Given the description of an element on the screen output the (x, y) to click on. 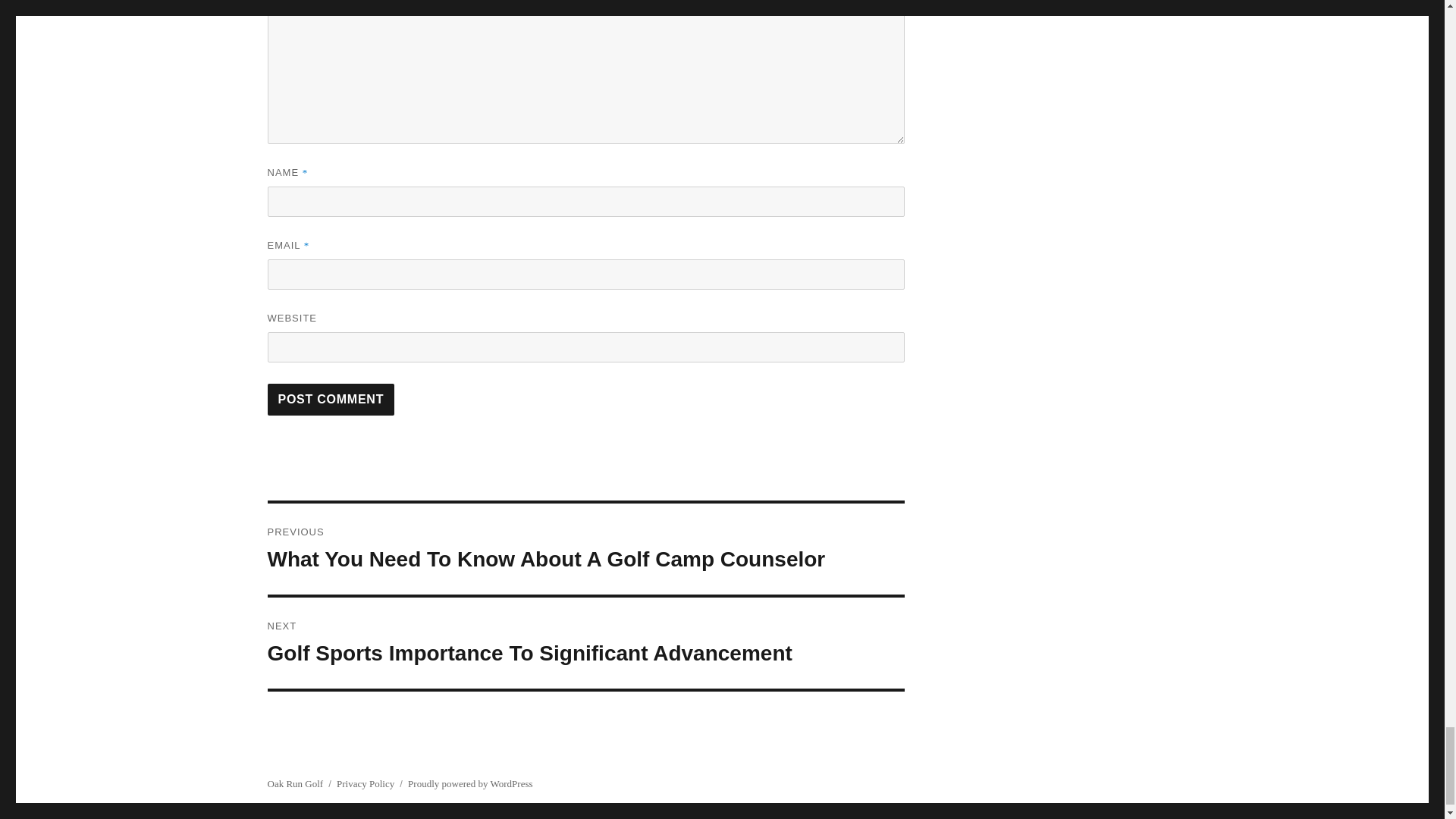
Post Comment (330, 399)
Post Comment (330, 399)
